Given the description of an element on the screen output the (x, y) to click on. 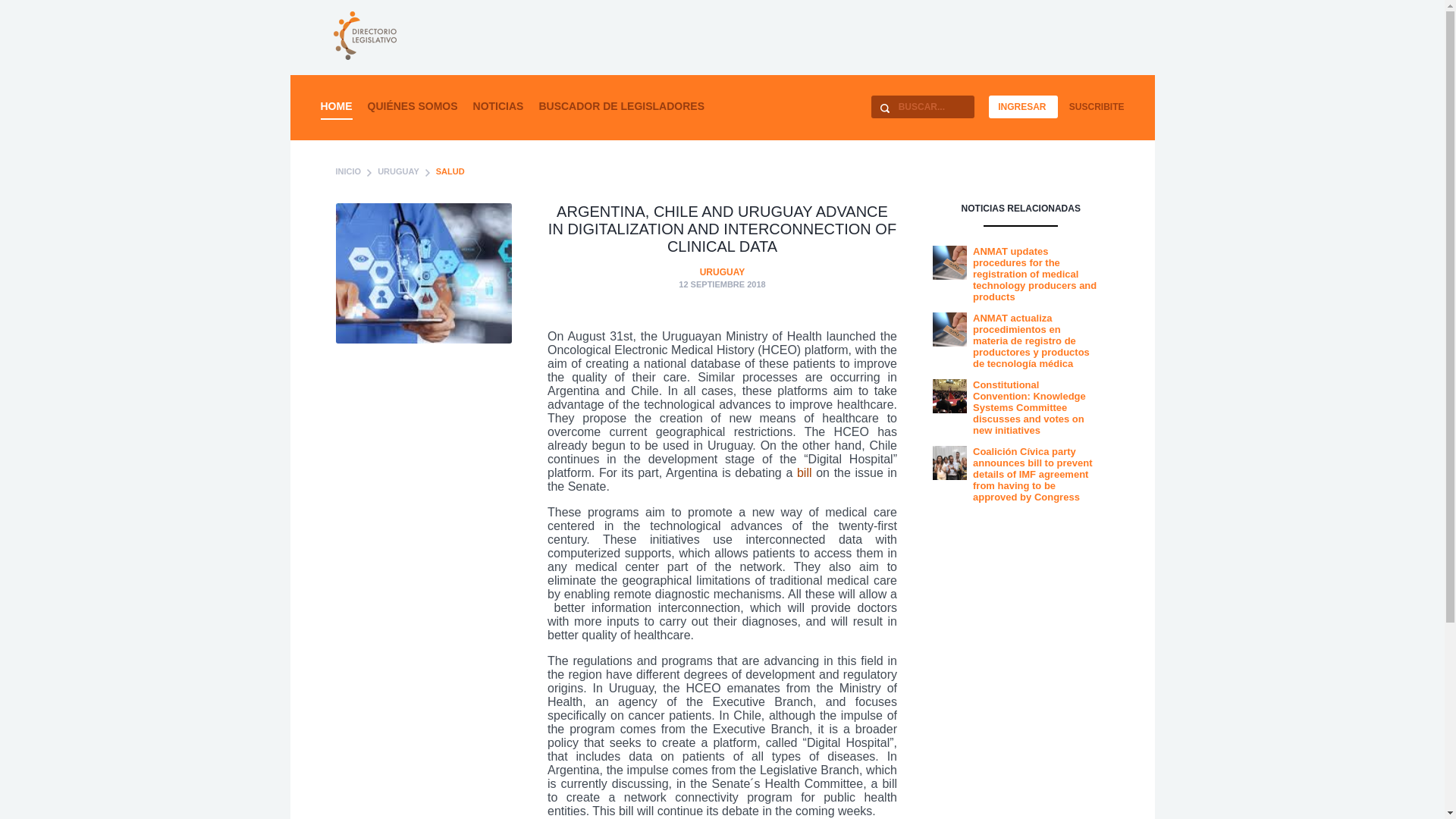
bill (804, 472)
SALUD (449, 171)
NOTICIAS (498, 105)
INGRESAR (1021, 106)
SUSCRIBITE (1096, 106)
BUSCADOR DE LEGISLADORES (621, 105)
INICIO (347, 171)
HOME (336, 105)
